Given the description of an element on the screen output the (x, y) to click on. 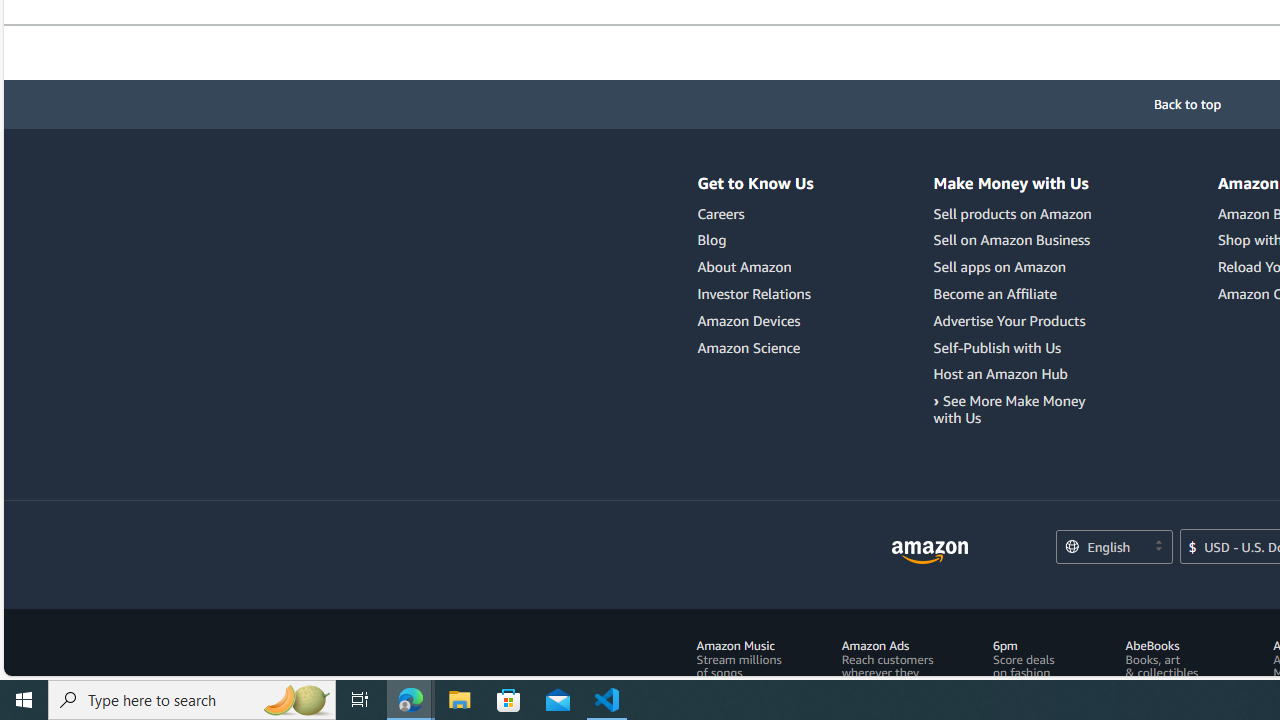
Amazon Science (755, 348)
Become an Affiliate (995, 293)
Sell apps on Amazon (1000, 267)
Amazon US Home (930, 551)
Careers (720, 213)
Sell on Amazon Business (1015, 240)
Self-Publish with Us (997, 347)
Careers (755, 214)
Amazon Devices (749, 320)
Investor Relations (755, 294)
Advertise Your Products (1009, 320)
About Amazon (755, 267)
Sell products on Amazon (1015, 214)
Amazon Ads Reach customers wherever they spend their time (887, 665)
Become an Affiliate (1015, 294)
